Given the description of an element on the screen output the (x, y) to click on. 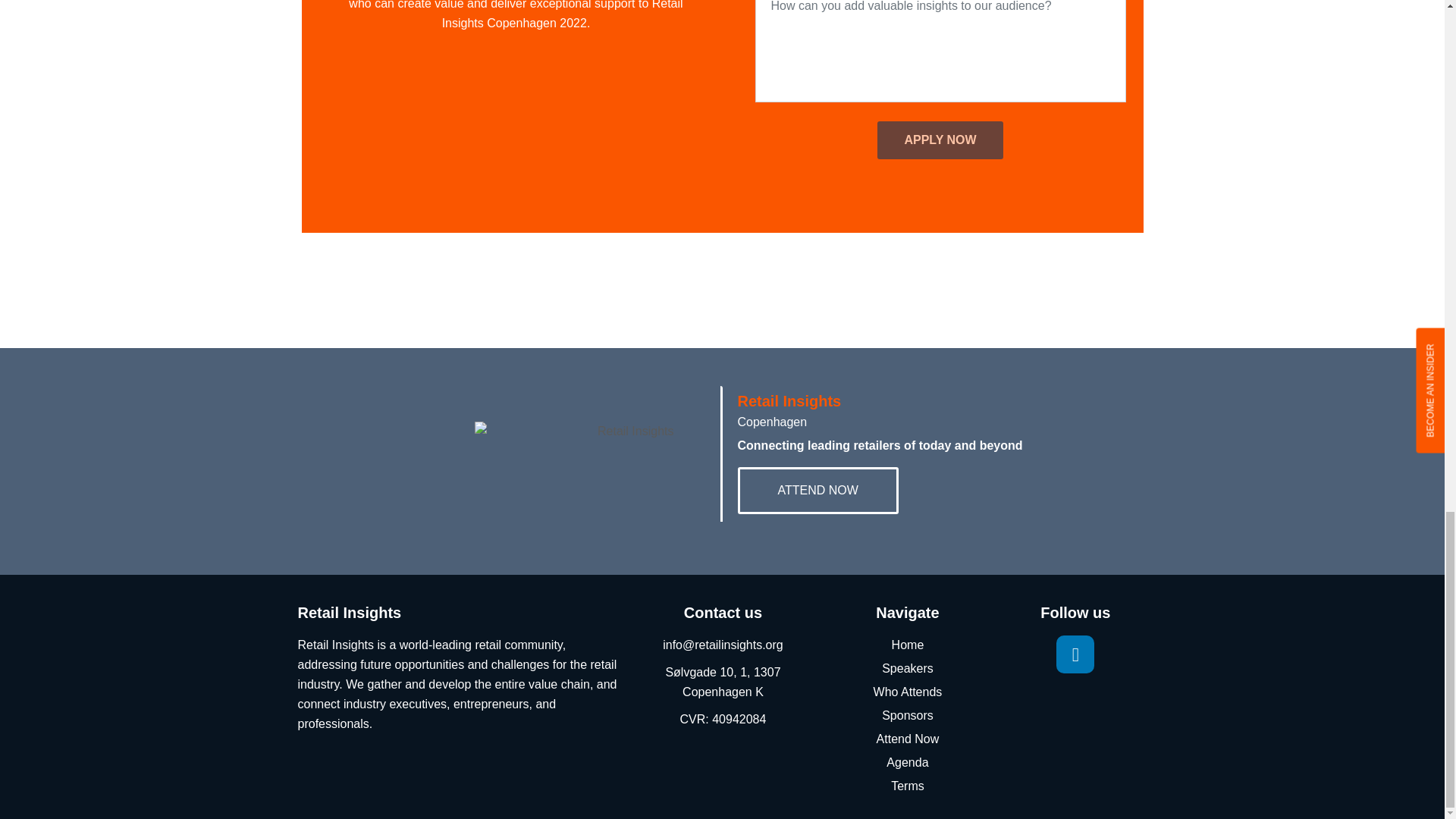
Agenda (906, 762)
APPLY NOW (940, 139)
Who Attends (906, 691)
Sponsors (906, 715)
APPLY NOW (940, 139)
Terms (906, 786)
ATTEND NOW (817, 490)
Home (906, 645)
Speakers (906, 668)
Attend Now (906, 739)
